Given the description of an element on the screen output the (x, y) to click on. 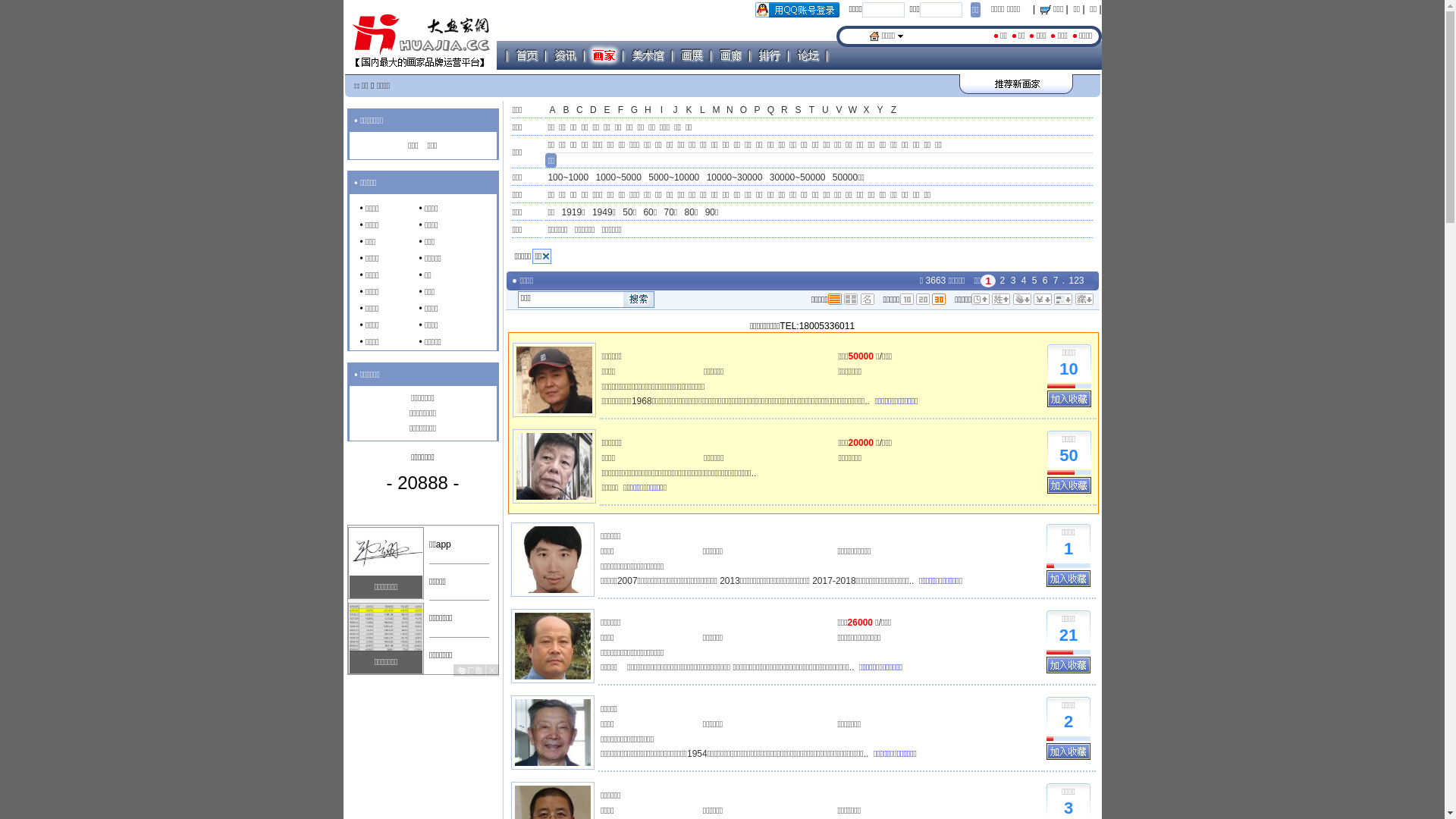
7 Element type: text (1055, 280)
G Element type: text (633, 110)
D Element type: text (592, 110)
C Element type: text (579, 110)
L Element type: text (702, 110)
N Element type: text (729, 110)
5 Element type: text (1034, 280)
50 Element type: text (1068, 455)
F Element type: text (620, 110)
5000~10000 Element type: text (673, 178)
10 Element type: text (1068, 369)
Q Element type: text (770, 110)
B Element type: text (565, 110)
6 Element type: text (1045, 280)
E Element type: text (606, 110)
2 Element type: text (1002, 280)
P Element type: text (756, 110)
V Element type: text (838, 110)
J Element type: text (674, 110)
W Element type: text (852, 110)
R Element type: text (783, 110)
10000~30000 Element type: text (734, 178)
2 Element type: text (1068, 722)
U Element type: text (824, 110)
1 Element type: text (1068, 549)
M Element type: text (715, 110)
I Element type: text (661, 110)
Y Element type: text (879, 110)
X Element type: text (865, 110)
Z Element type: text (893, 110)
1000~5000 Element type: text (618, 178)
T Element type: text (811, 110)
4 Element type: text (1023, 280)
S Element type: text (797, 110)
A Element type: text (551, 110)
O Element type: text (742, 110)
100~1000 Element type: text (567, 178)
K Element type: text (688, 110)
30000~50000 Element type: text (797, 178)
21 Element type: text (1068, 635)
1 Element type: text (987, 280)
H Element type: text (647, 110)
123 Element type: text (1075, 280)
3 Element type: text (1013, 280)
